Given the description of an element on the screen output the (x, y) to click on. 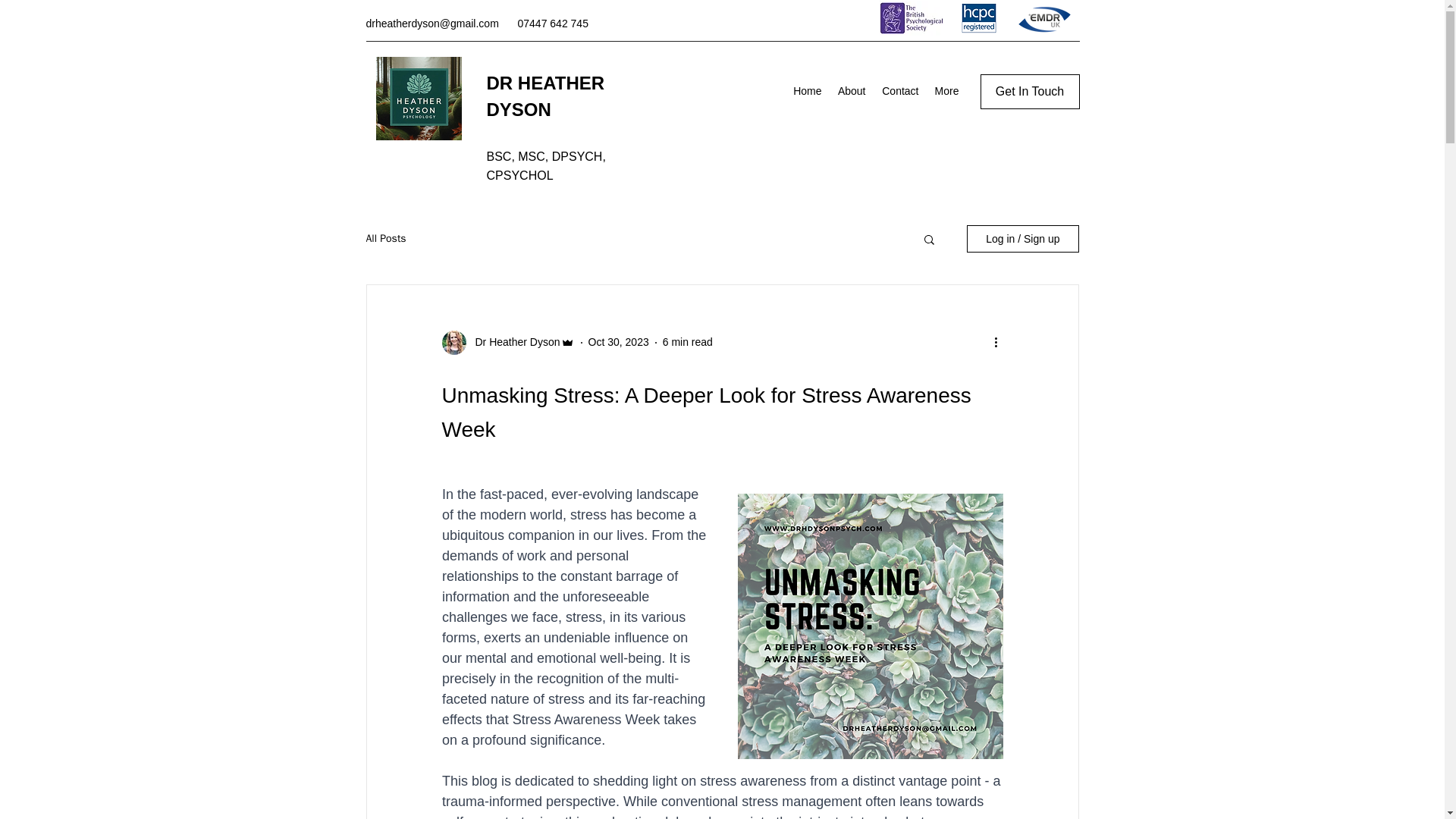
Get In Touch (1028, 91)
Dr Heather Dyson (512, 342)
6 min read (687, 341)
Home (807, 91)
Contact (899, 91)
About (851, 91)
All Posts (385, 238)
Oct 30, 2023 (618, 341)
